Given the description of an element on the screen output the (x, y) to click on. 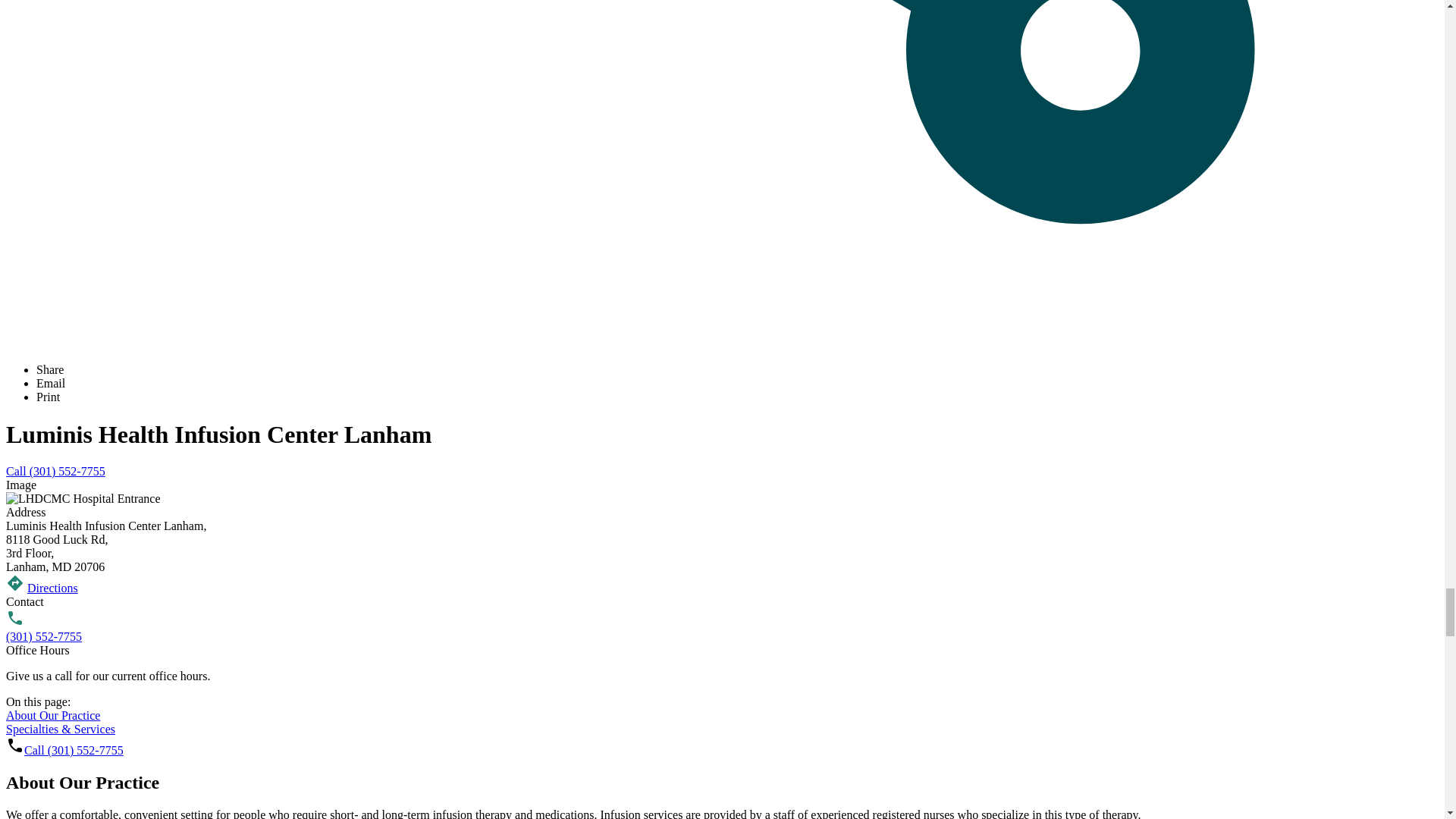
Copies the URL to the clipboard (50, 369)
Opens the print menu (47, 396)
